Given the description of an element on the screen output the (x, y) to click on. 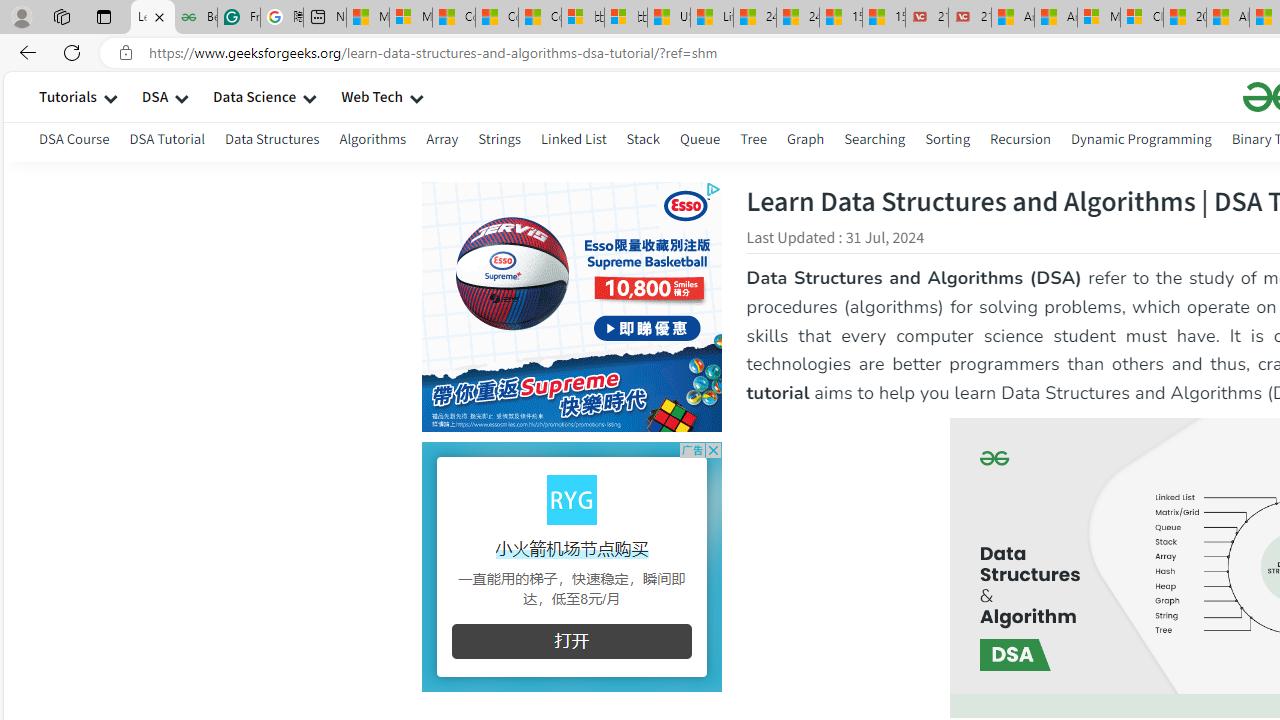
DSA Course (74, 142)
Linked List (572, 138)
Sorting (947, 138)
Class: ns-xixko-e-5 (571, 498)
DSA Tutorial (167, 138)
Algorithms (372, 138)
Algorithms (372, 142)
Array (442, 142)
Sorting (947, 142)
Best SSL Certificates Provider in India - GeeksforGeeks (196, 17)
Strings (499, 142)
Data Structures (271, 142)
